Given the description of an element on the screen output the (x, y) to click on. 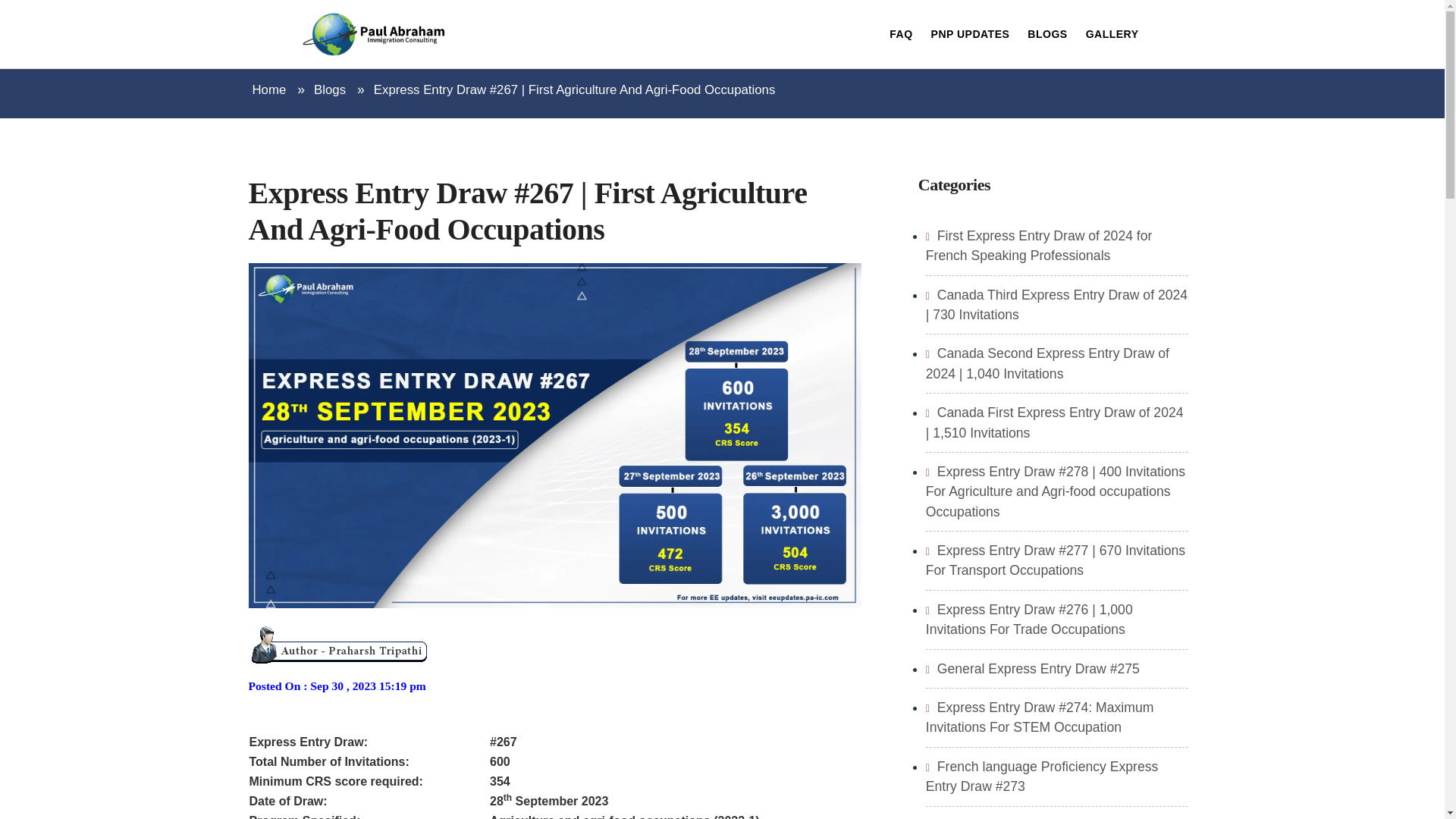
BLOGS (1042, 33)
PNP UPDATES (965, 33)
Home (268, 89)
Author (339, 644)
Blogs (330, 89)
PNP Updates (965, 33)
Author (339, 643)
Blogs (1042, 33)
GALLERY (1106, 33)
Gallery (1106, 33)
